Given the description of an element on the screen output the (x, y) to click on. 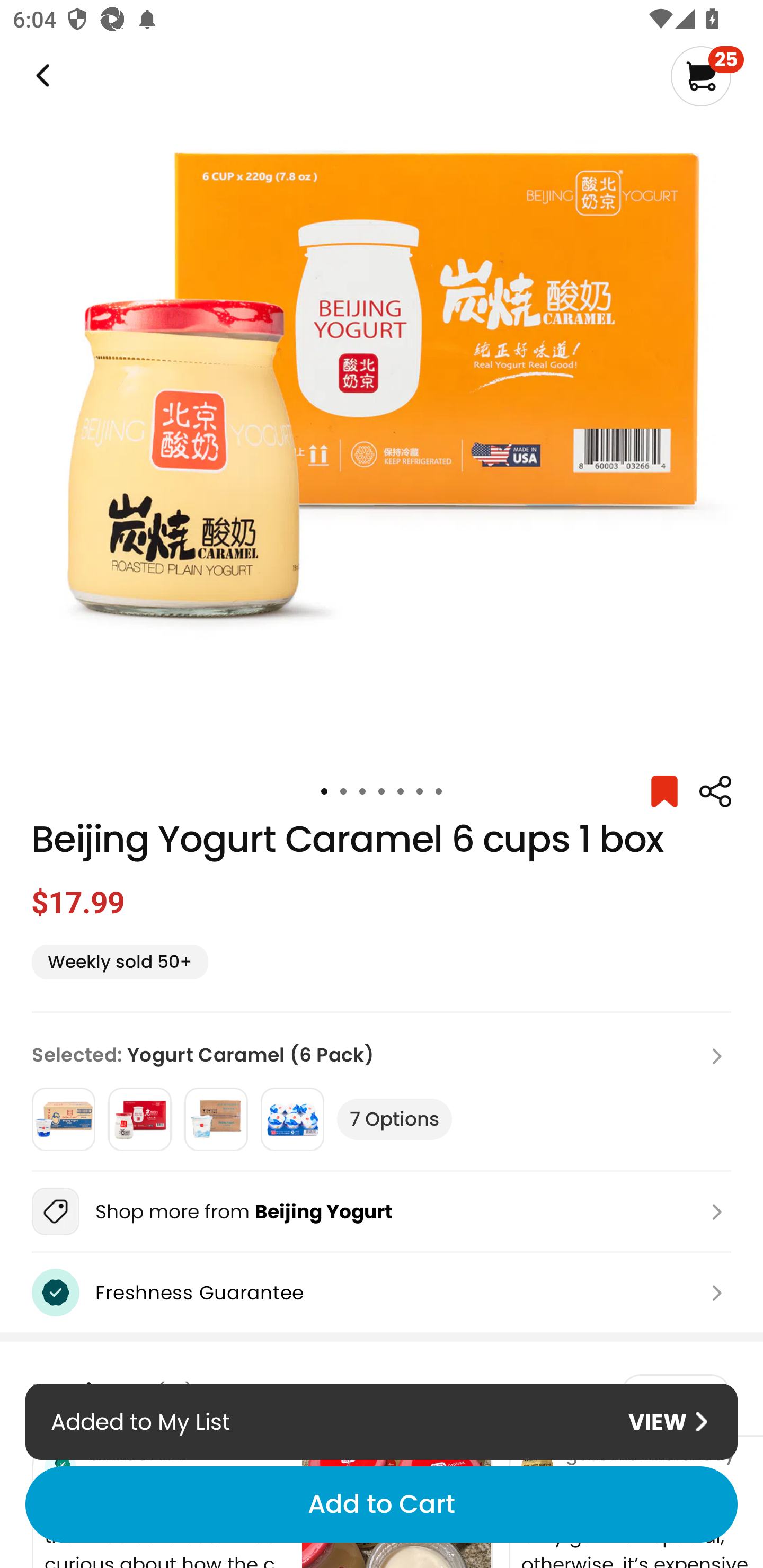
Weee! (41, 75)
25 (706, 75)
Weee! (714, 791)
Selected: Yogurt Caramel (6 Pack) 7 Options (381, 1090)
Shop more from Beijing Yogurt Weee! (381, 1211)
Freshness Guarantee (381, 1292)
Added to My List VIEW (381, 1420)
VIEW (667, 1421)
Add to Cart (381, 1504)
Add to Cart (381, 1504)
